Given the description of an element on the screen output the (x, y) to click on. 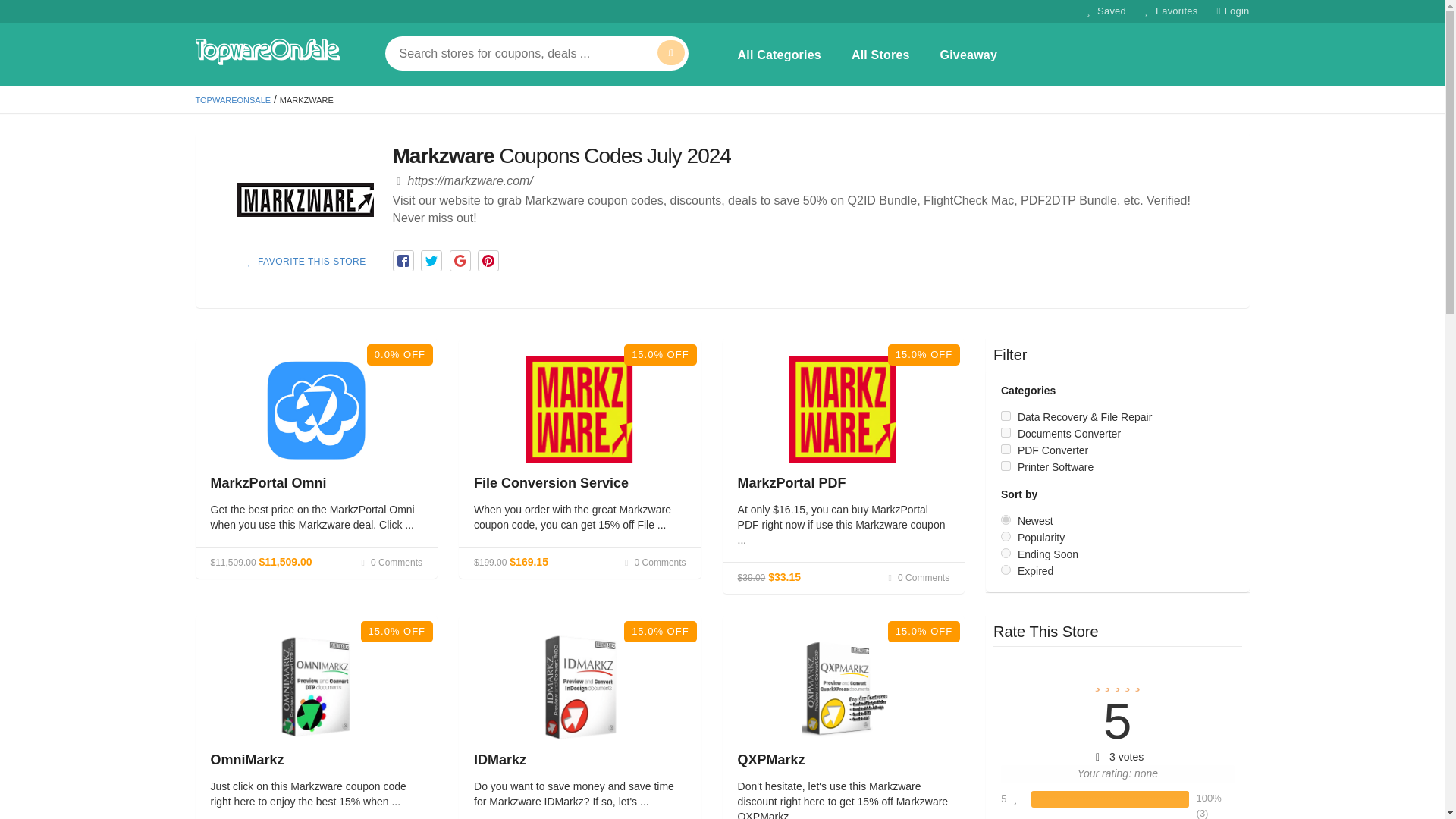
printer-software (1005, 465)
data-recovery-file-repair (1005, 415)
Go to Topwareonsale. (232, 99)
OmniMarkz (247, 759)
Share link on Facebook (403, 260)
MarkzPortal Omni (268, 482)
Giveaway (968, 55)
markzware coupon code (304, 198)
MarkzPortal PDF (791, 482)
newest (1005, 519)
All Categories (779, 55)
Favorites (1169, 11)
0 Comments (653, 562)
markzware-coupon-codes (842, 410)
markzportal-omni-icon (315, 410)
